Given the description of an element on the screen output the (x, y) to click on. 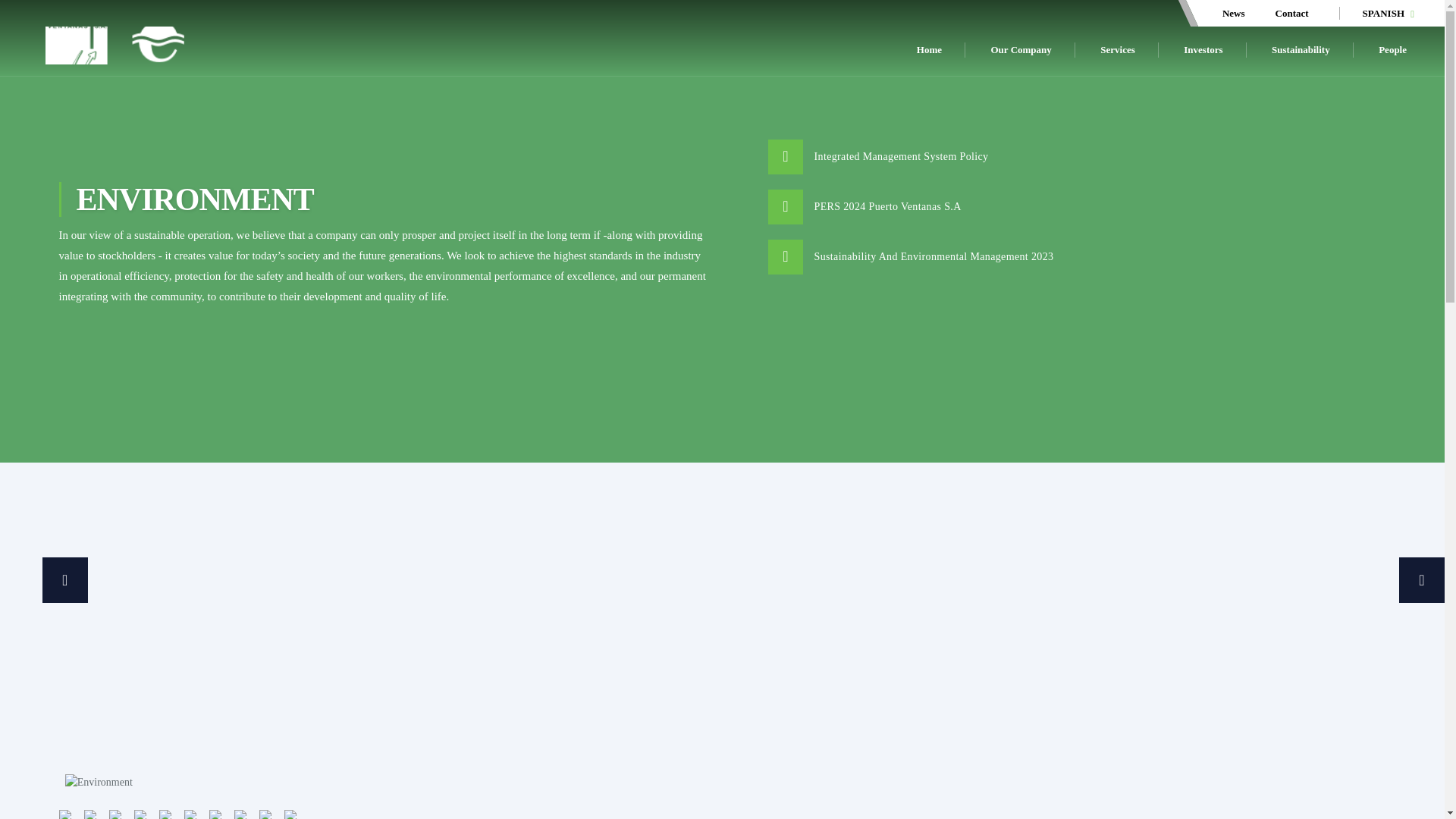
Investors (1203, 49)
Services (1117, 49)
Contact (1291, 12)
People (1392, 49)
Sustainability (1300, 49)
SPANISH (1387, 12)
News (1233, 12)
Home (929, 49)
Our Company (1020, 49)
